Given the description of an element on the screen output the (x, y) to click on. 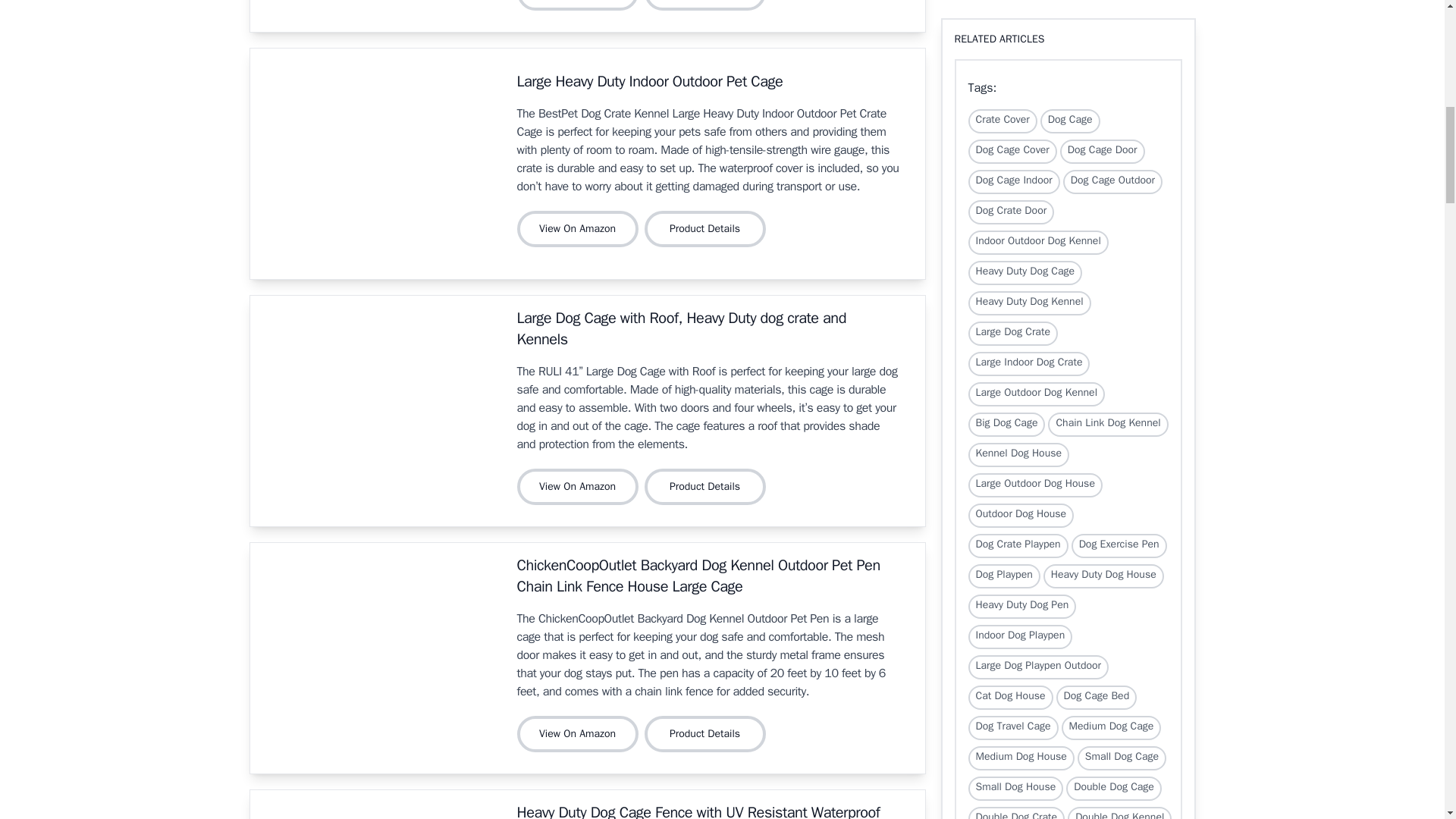
Large Heavy Duty Indoor Outdoor Pet Cage (649, 81)
Product Details (705, 228)
Product Details (708, 5)
Large Dog Cage with Roof, Heavy Duty dog crate and Kennels (680, 328)
View On Amazon (580, 5)
Product Details (708, 228)
Product Details (705, 5)
View On Amazon (577, 5)
View On Amazon (580, 228)
View On Amazon (577, 228)
